Given the description of an element on the screen output the (x, y) to click on. 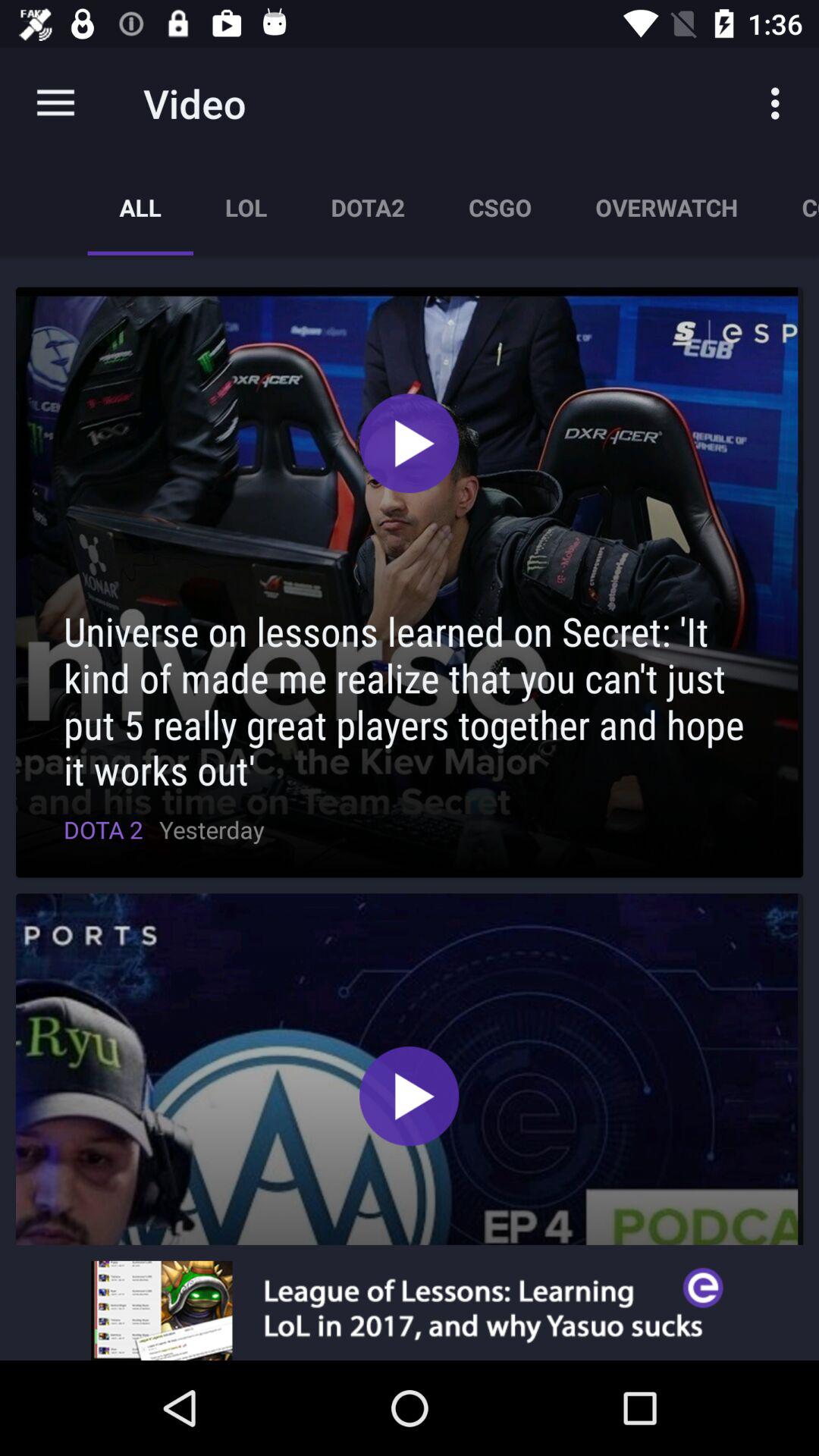
visit advertiser (409, 1310)
